Given the description of an element on the screen output the (x, y) to click on. 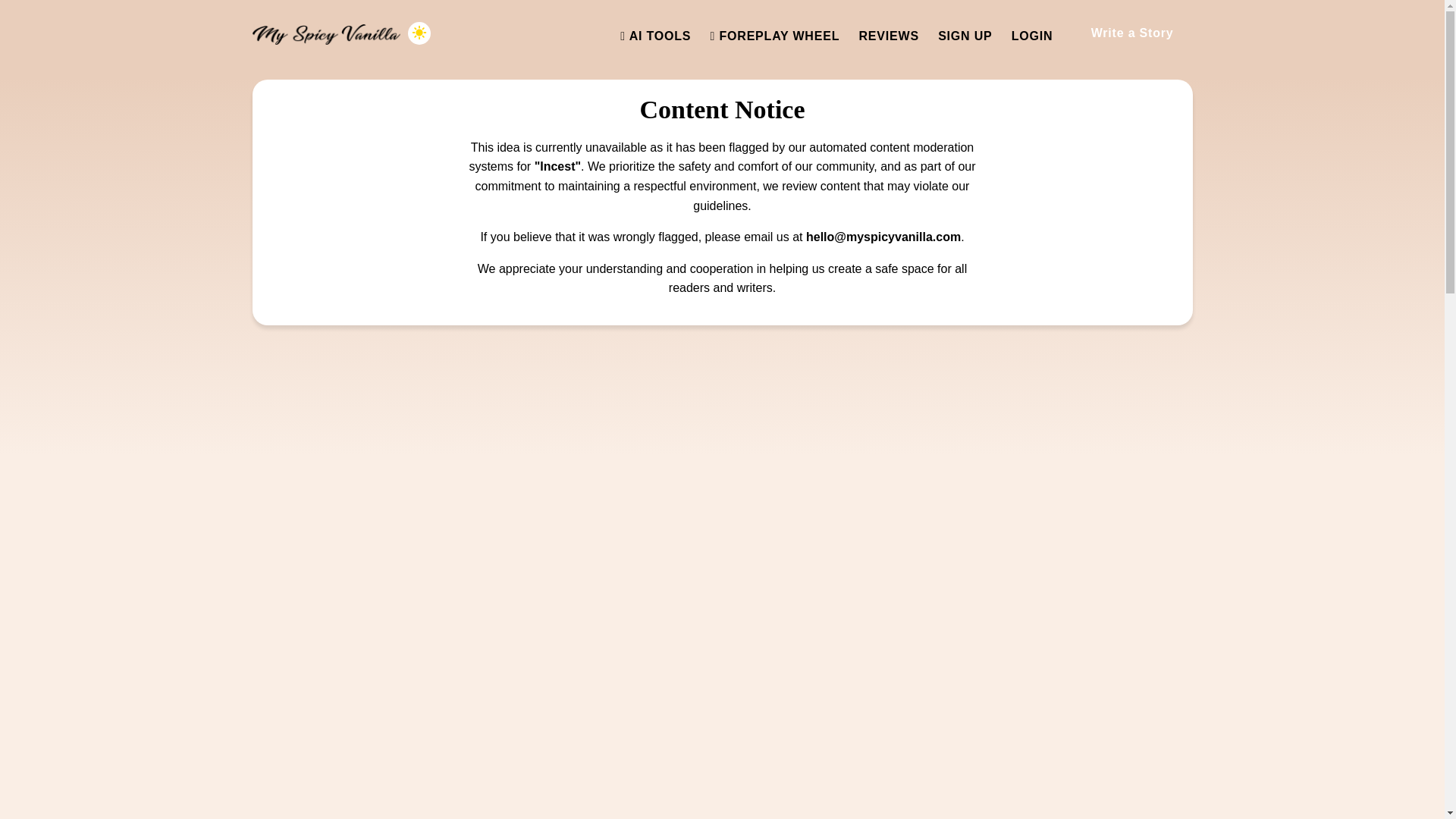
Write a Story (1131, 32)
LOGIN (1031, 35)
SIGN UP (964, 35)
REVIEWS (888, 35)
